Given the description of an element on the screen output the (x, y) to click on. 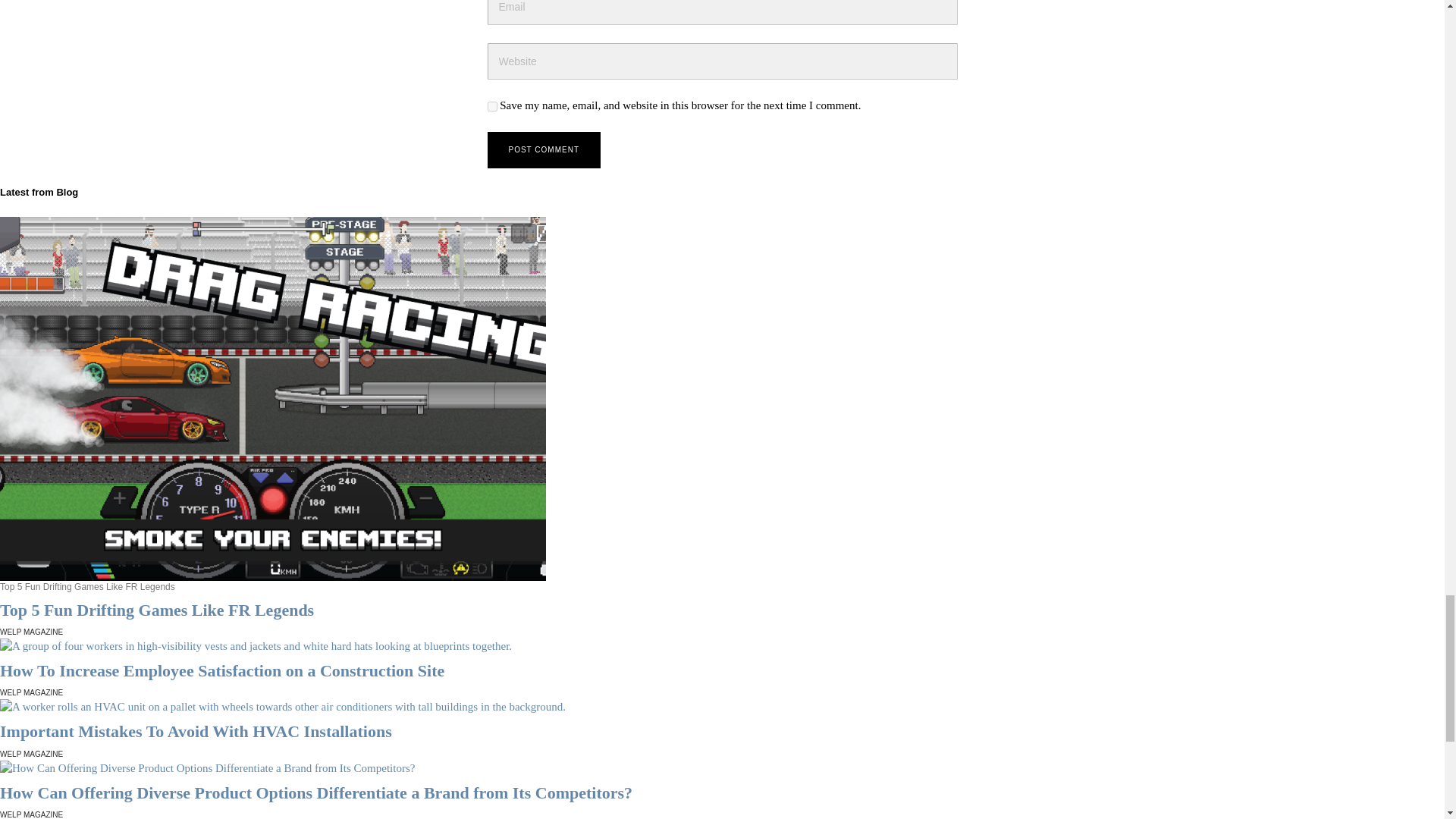
Post Comment (542, 149)
yes (491, 106)
